Given the description of an element on the screen output the (x, y) to click on. 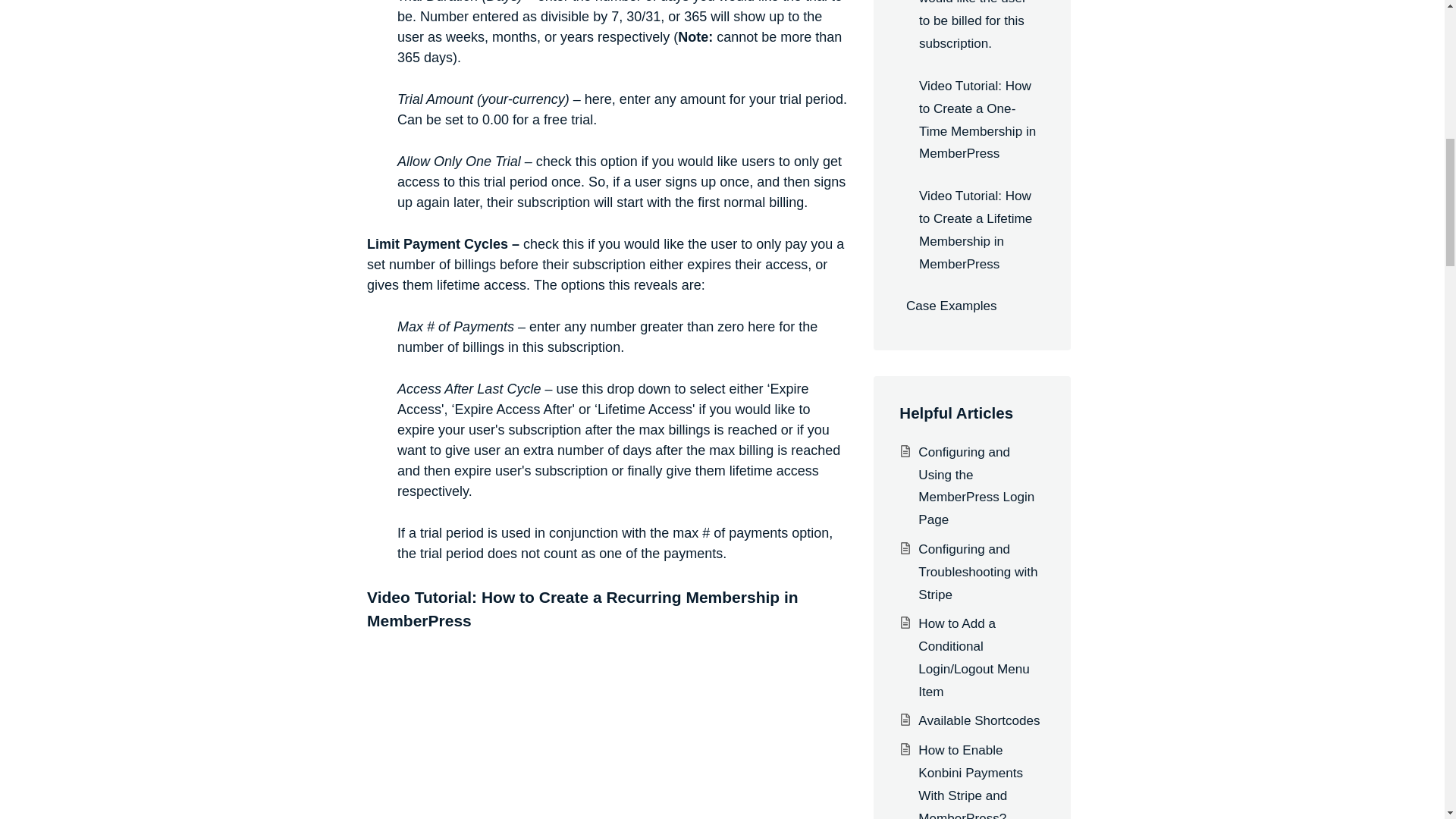
Configuring and Using the MemberPress Login Page (975, 486)
Case Examples (971, 306)
